Given the description of an element on the screen output the (x, y) to click on. 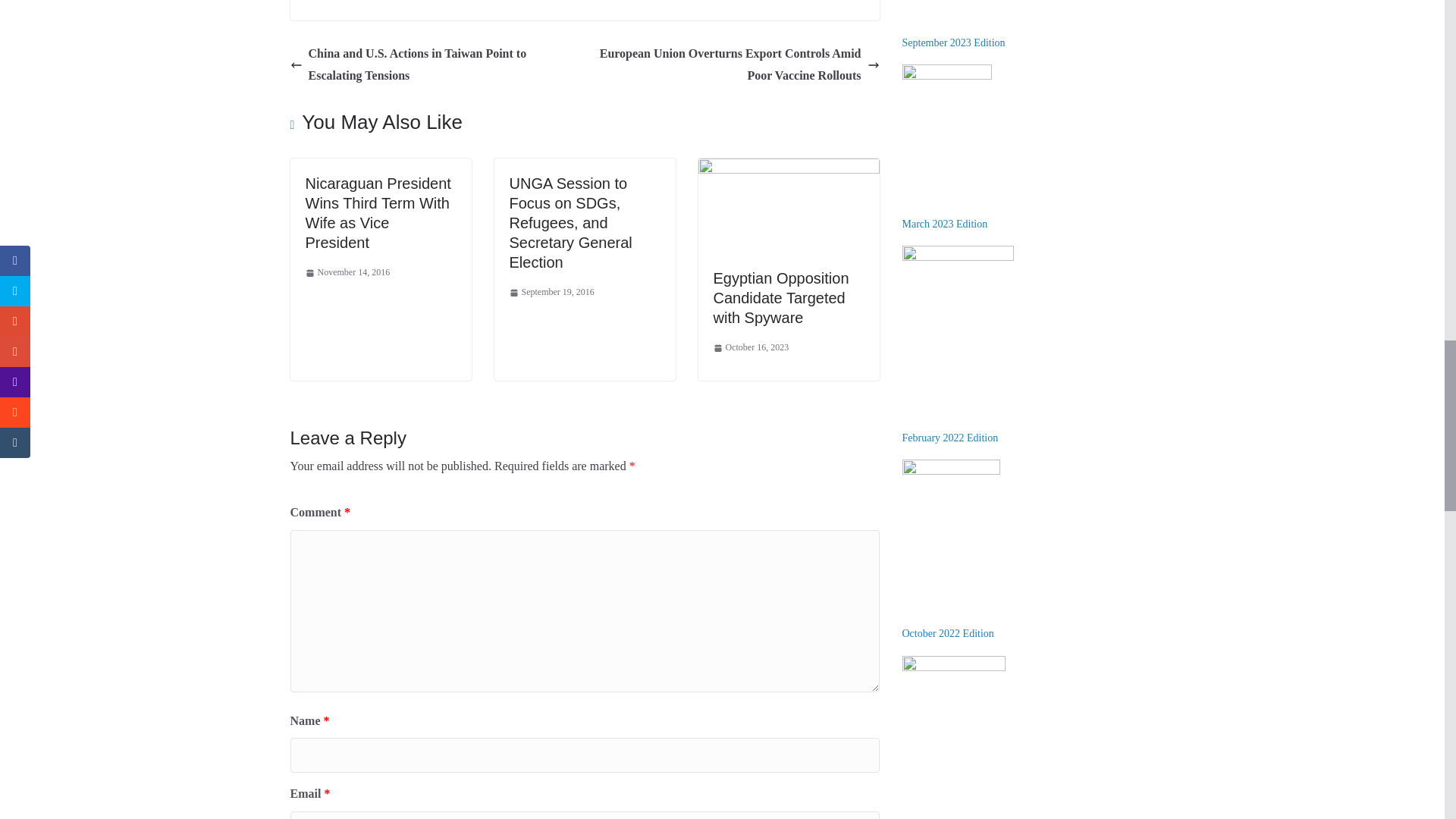
8:00 AM (551, 292)
8:00 AM (347, 272)
